Given the description of an element on the screen output the (x, y) to click on. 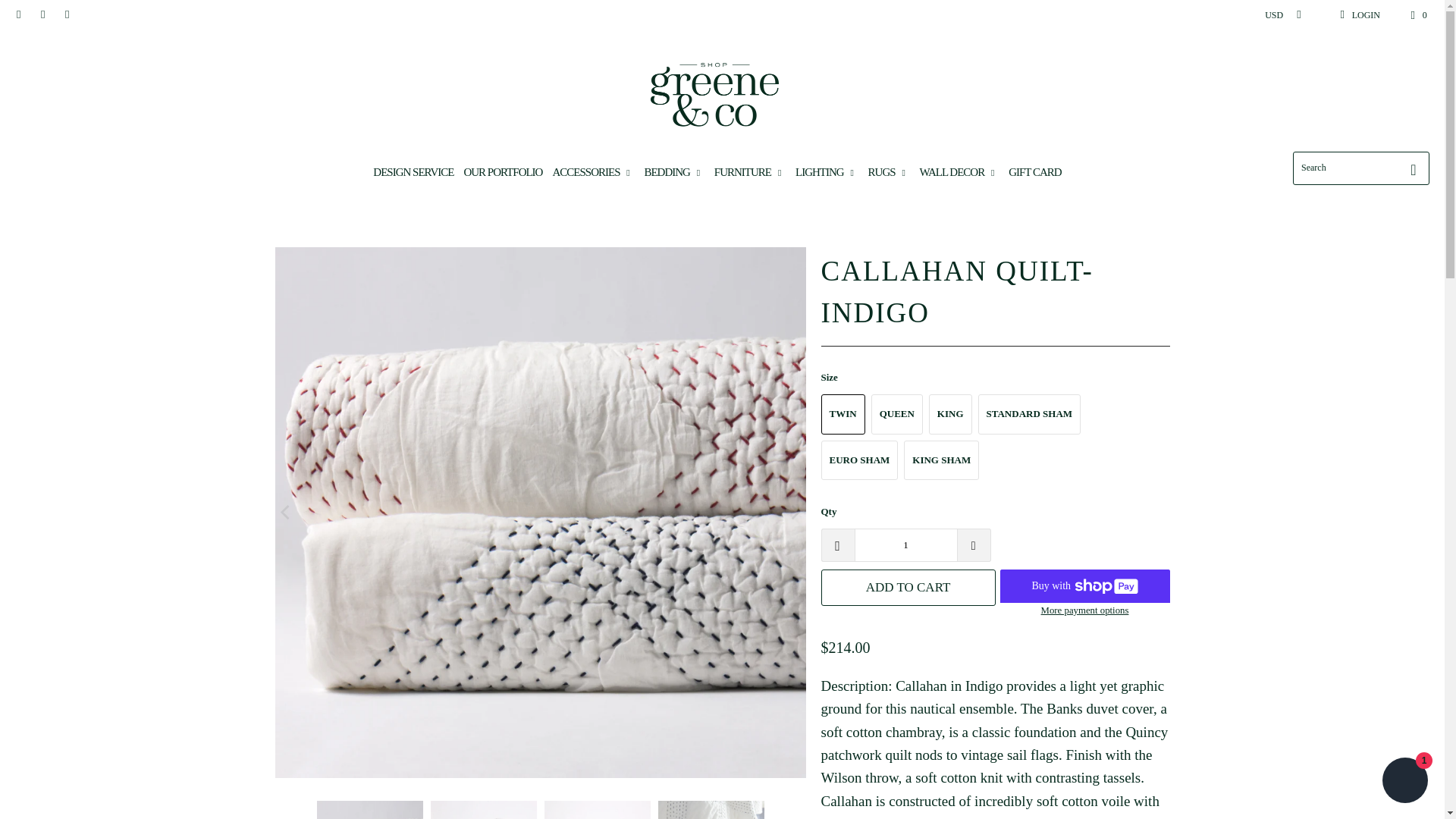
Shopify online store chat (1404, 781)
My Account  (1357, 15)
1 (904, 544)
